Given the description of an element on the screen output the (x, y) to click on. 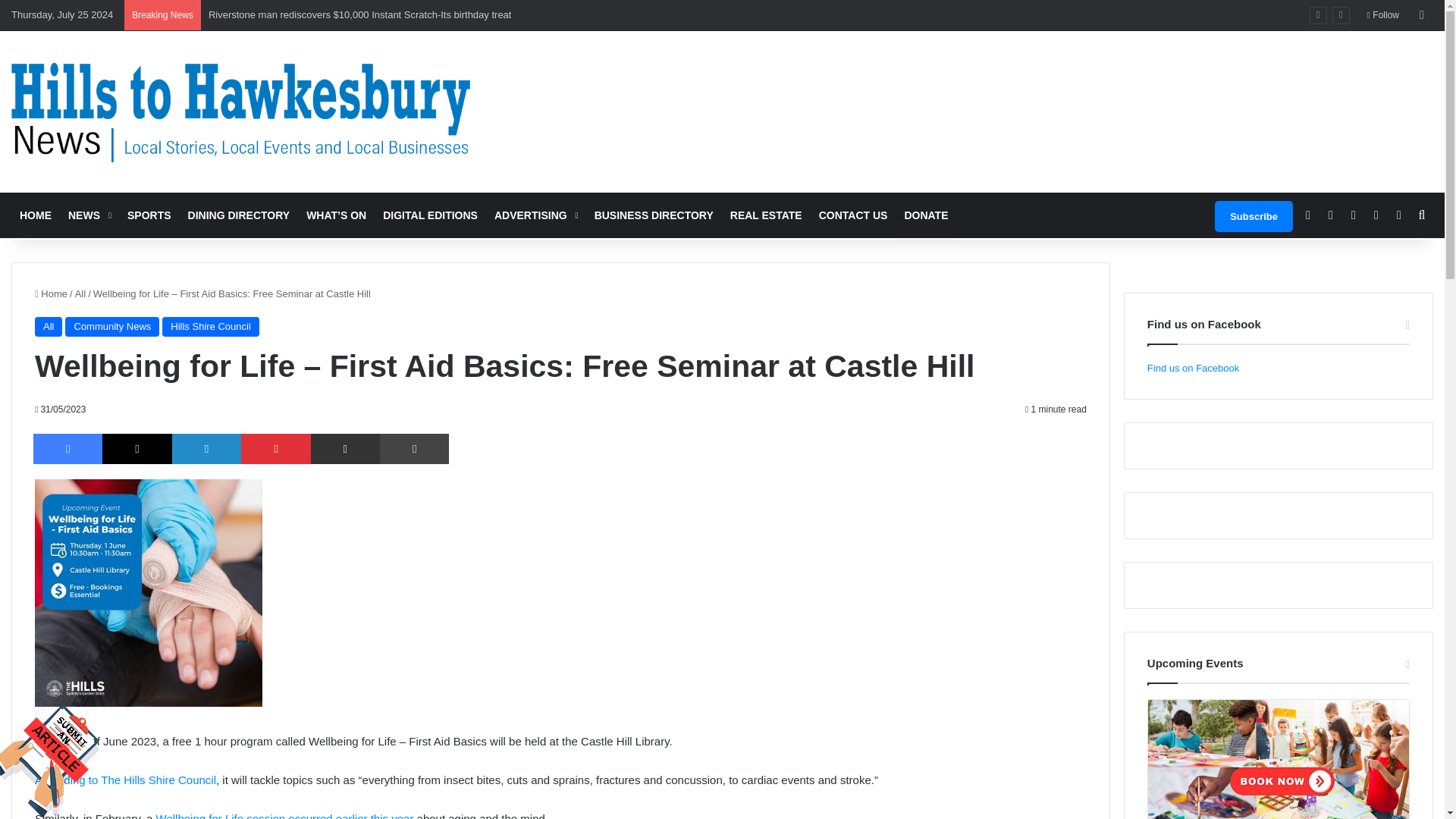
SPORTS (149, 215)
NEWS (89, 215)
DONATE (925, 215)
ADVERTISING (536, 215)
Facebook (67, 449)
HOME (35, 215)
Pinterest (275, 449)
Follow (1382, 15)
BUSINESS DIRECTORY (654, 215)
Subscribe (1253, 215)
DIGITAL EDITIONS (430, 215)
Hills to Hawkesbury News (240, 111)
LinkedIn (206, 449)
CONTACT US (853, 215)
Home (50, 293)
